Given the description of an element on the screen output the (x, y) to click on. 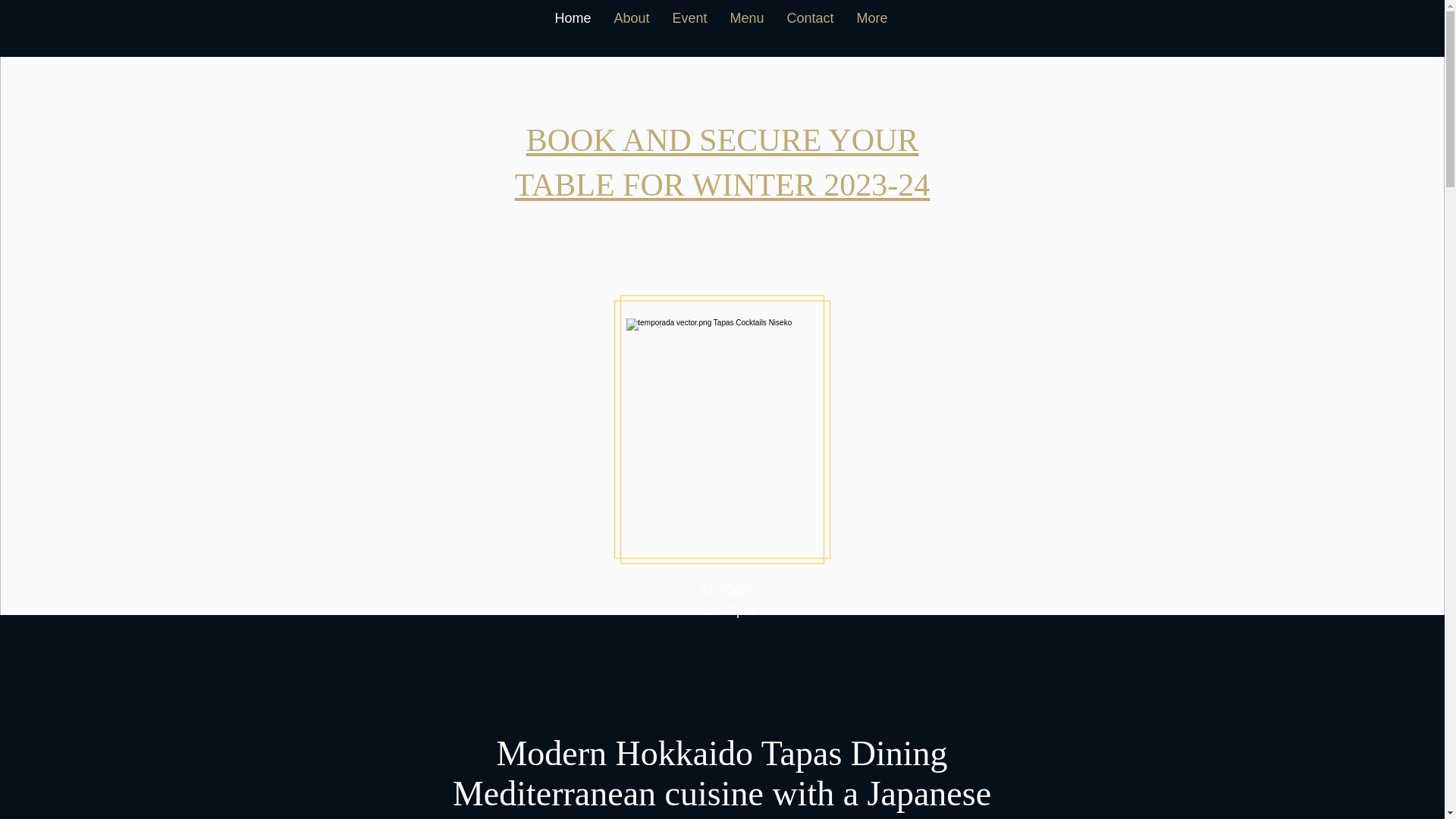
About (631, 27)
Event (689, 27)
Contact (810, 27)
BOOK AND SECURE YOUR TABLE FOR WINTER 2023-24 (722, 162)
Menu (747, 27)
Home (572, 27)
